Given the description of an element on the screen output the (x, y) to click on. 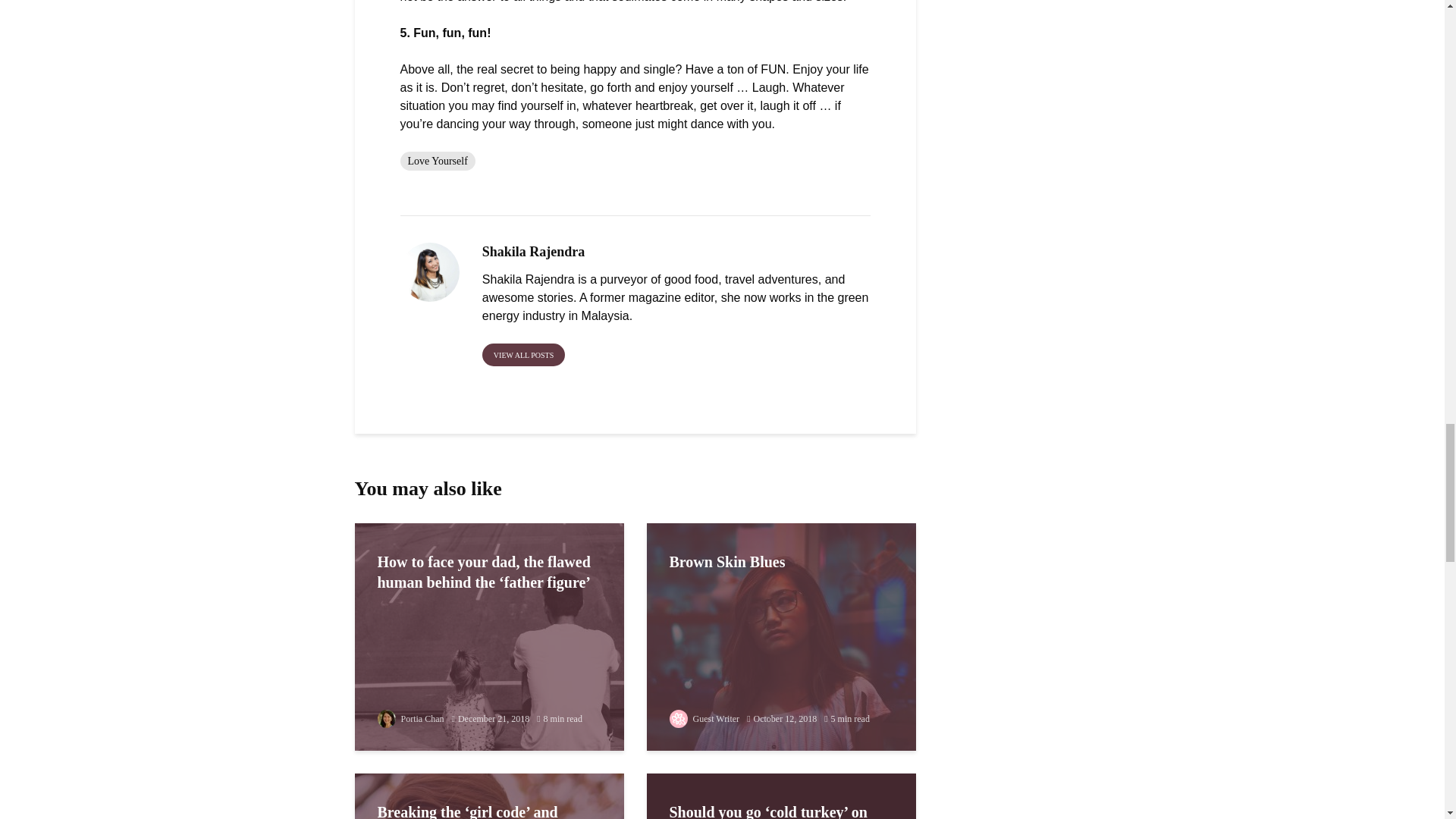
Brown Skin Blues (780, 635)
